Given the description of an element on the screen output the (x, y) to click on. 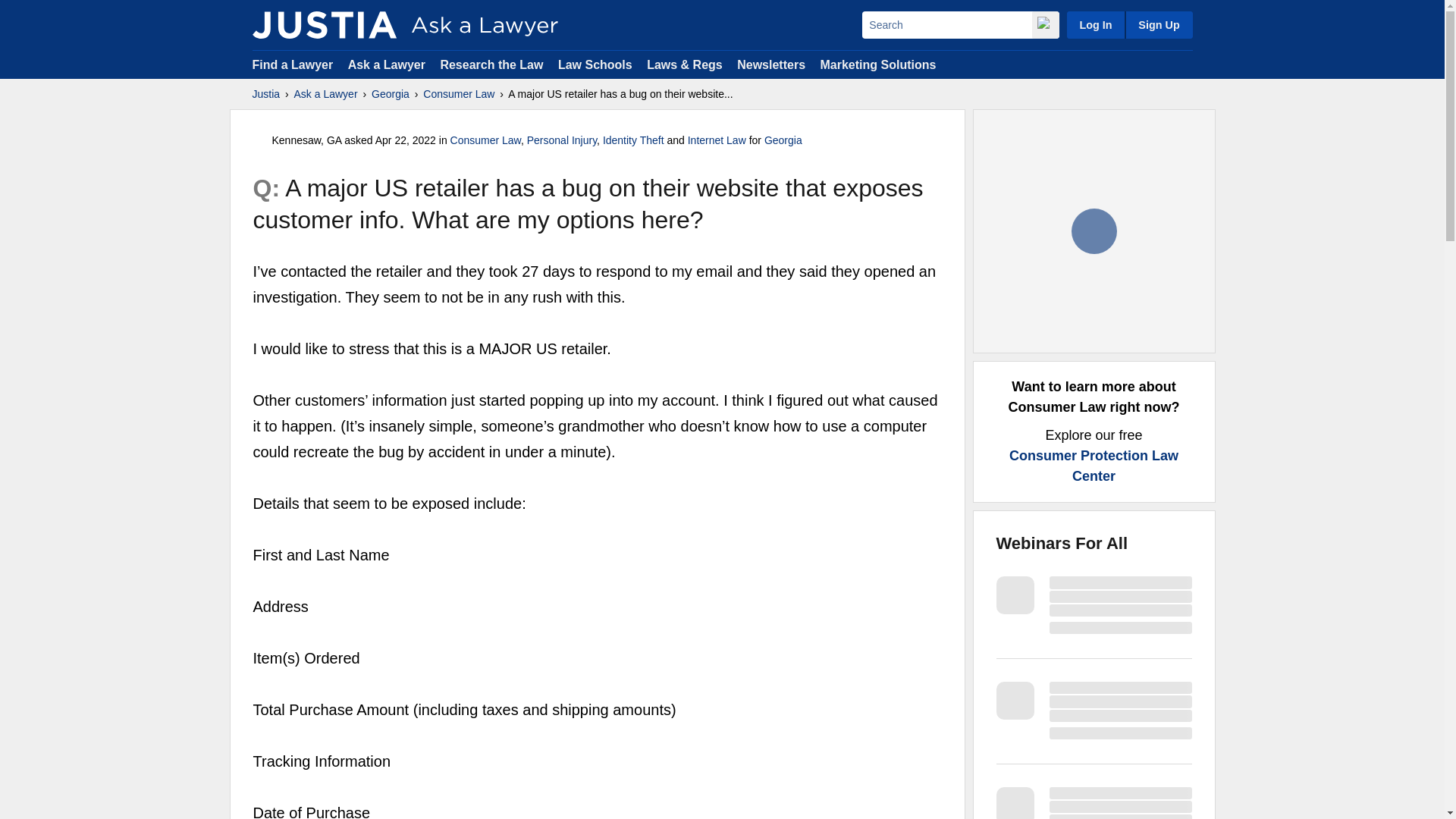
Georgia (783, 140)
Justia (323, 24)
Research the Law (491, 64)
2022-04-22T18:06:18-07:00 (405, 140)
Ask a Lawyer (326, 93)
Consumer Law (485, 140)
Sign Up (1158, 24)
Personal Injury (561, 140)
Find a Lawyer (292, 64)
Consumer Law (459, 93)
